Given the description of an element on the screen output the (x, y) to click on. 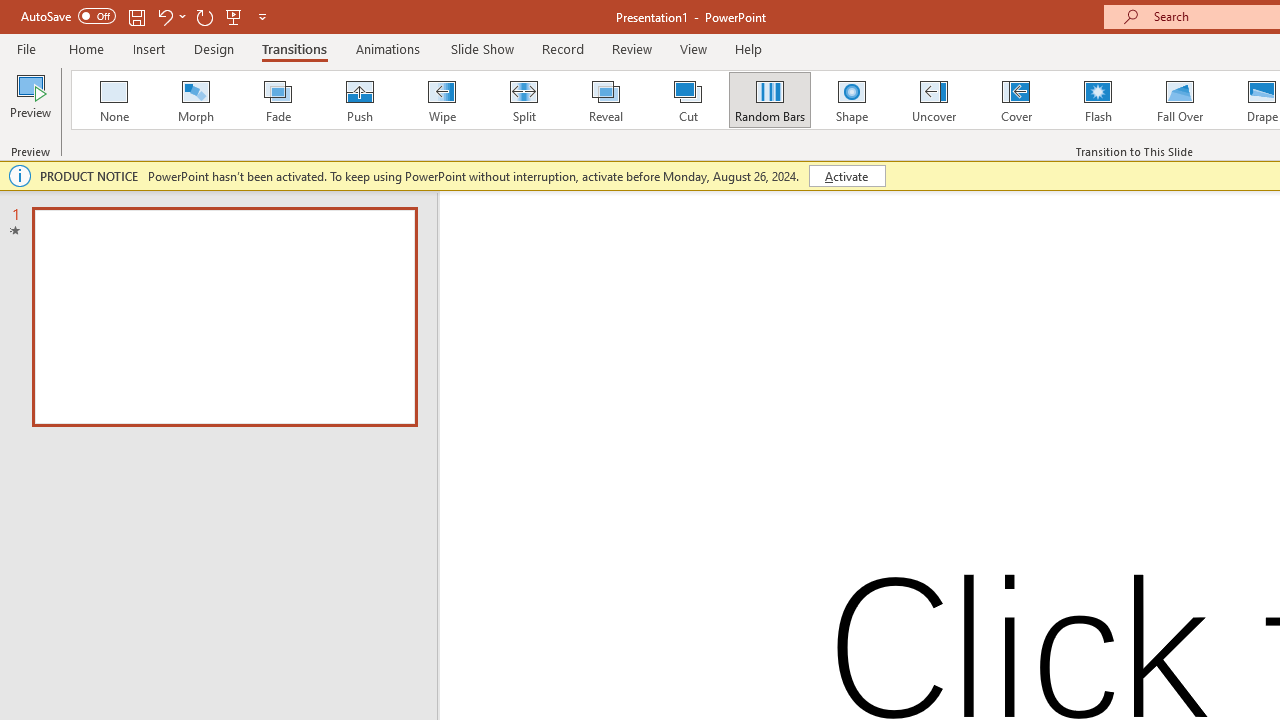
Flash (1098, 100)
Uncover (934, 100)
Cover (1016, 100)
